Given the description of an element on the screen output the (x, y) to click on. 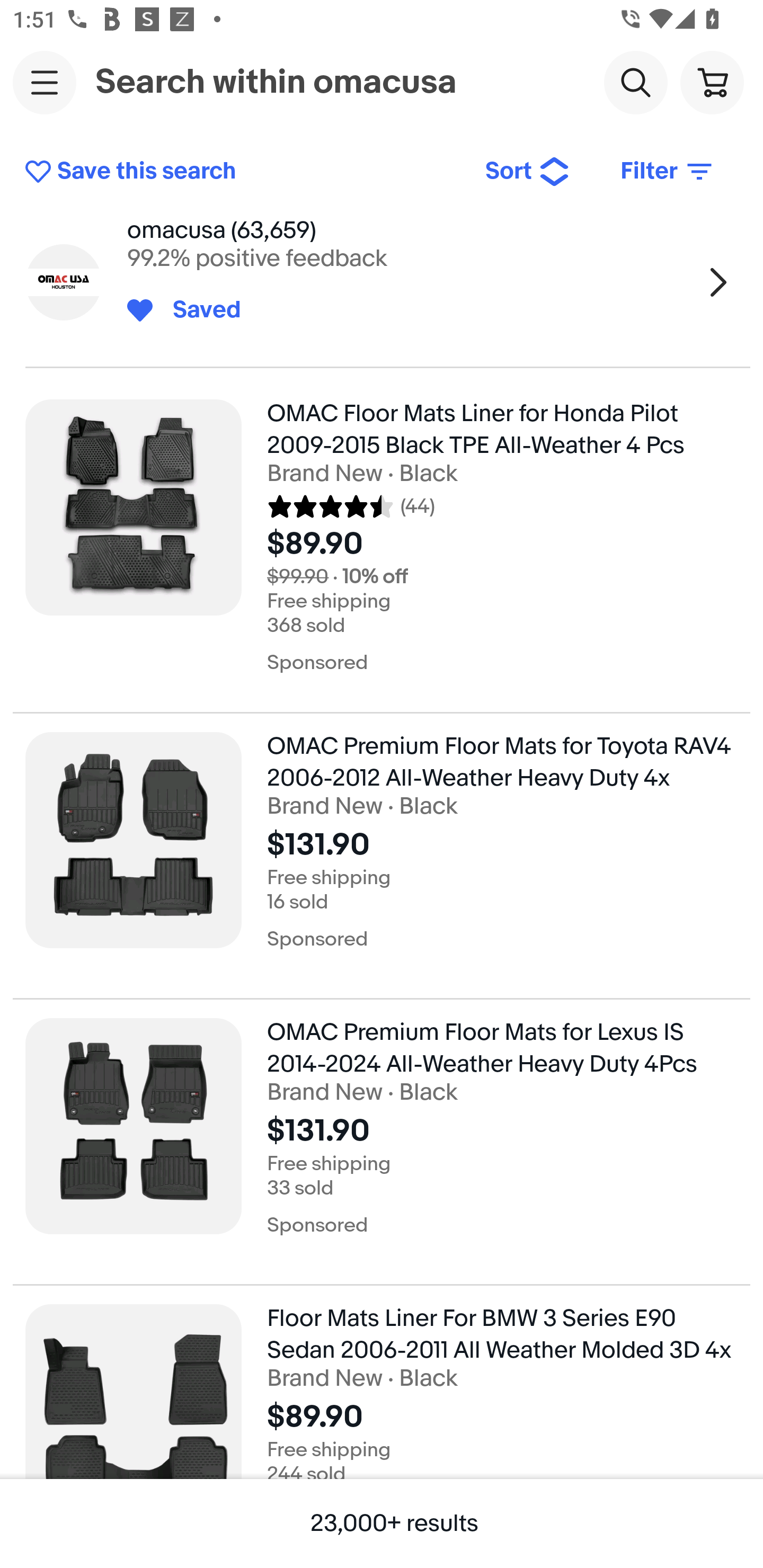
Main navigation, open (44, 82)
Search (635, 81)
Cart button shopping cart (711, 81)
Save this search (241, 171)
Sort (527, 171)
Filter (667, 171)
omacusa (63,659) 99.2% positive feedback Saved (381, 282)
Saved (197, 310)
